Given the description of an element on the screen output the (x, y) to click on. 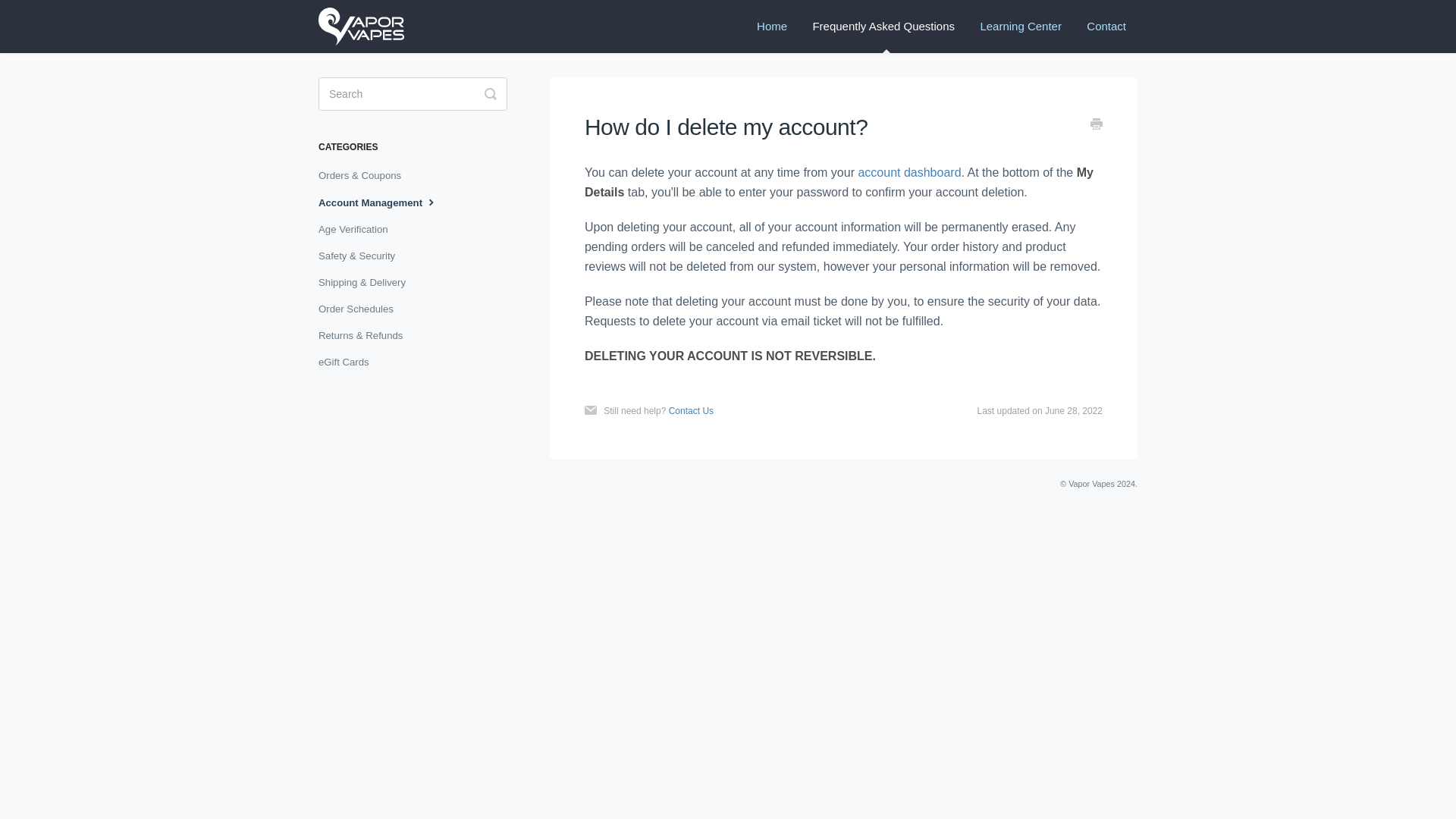
Contact (1106, 26)
Account Management (383, 202)
Vapor Vapes Help Center (368, 26)
search-query (412, 93)
Home (771, 26)
account dashboard (908, 172)
Age Verification (358, 229)
Learning Center (1020, 26)
eGift Cards (349, 362)
Frequently Asked Questions (883, 26)
Contact Us (690, 410)
Toggle Search (490, 93)
Vapor Vapes (1091, 483)
Order Schedules (361, 309)
